Given the description of an element on the screen output the (x, y) to click on. 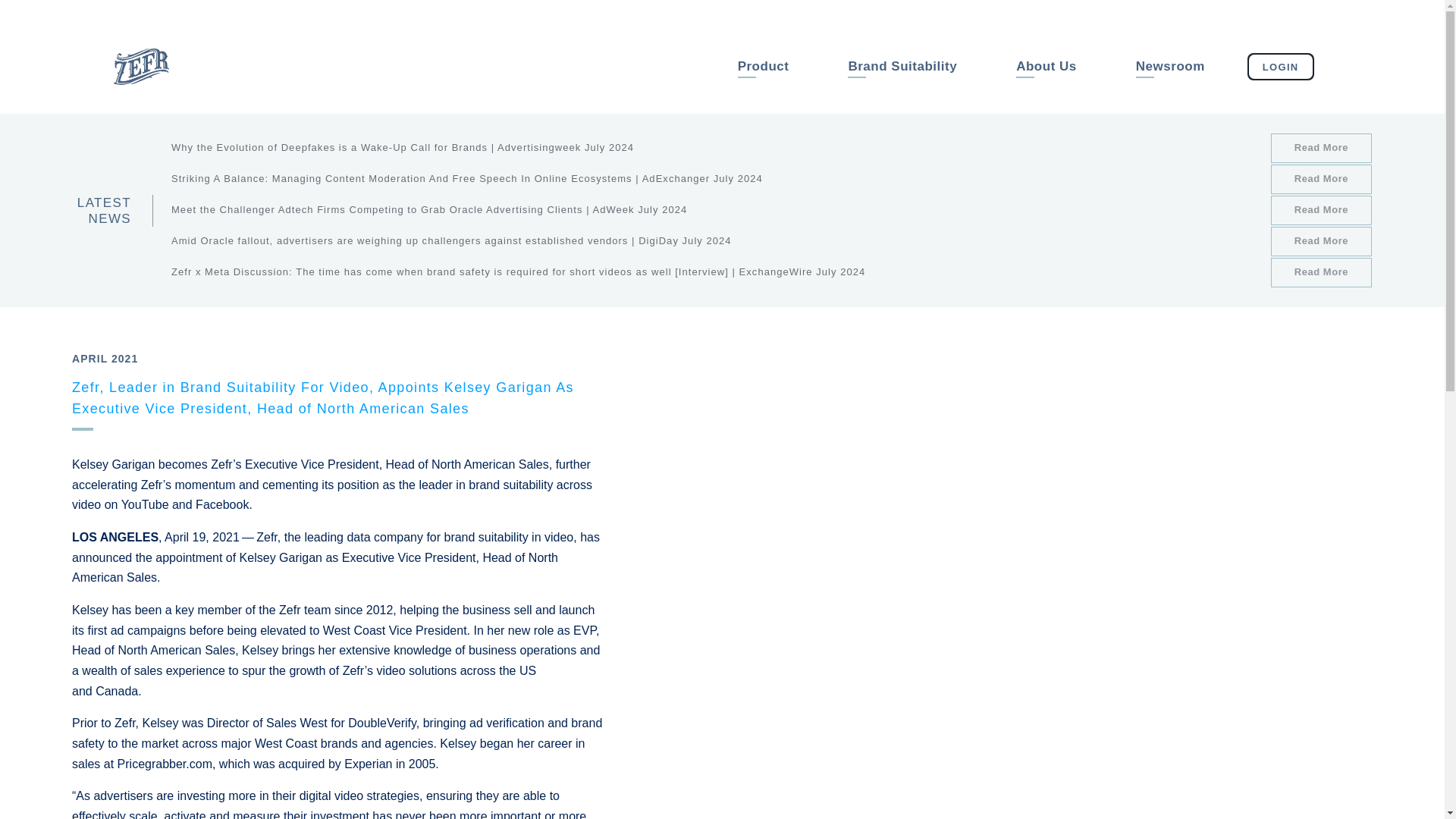
Read More (1321, 241)
Read More (1321, 210)
Newsroom (1170, 66)
Home (141, 80)
Brand Suitability (902, 66)
About Us (1046, 66)
Product (763, 66)
Read More (1321, 272)
LOGIN (1280, 66)
Read More (1321, 179)
Read More (1321, 147)
